Given the description of an element on the screen output the (x, y) to click on. 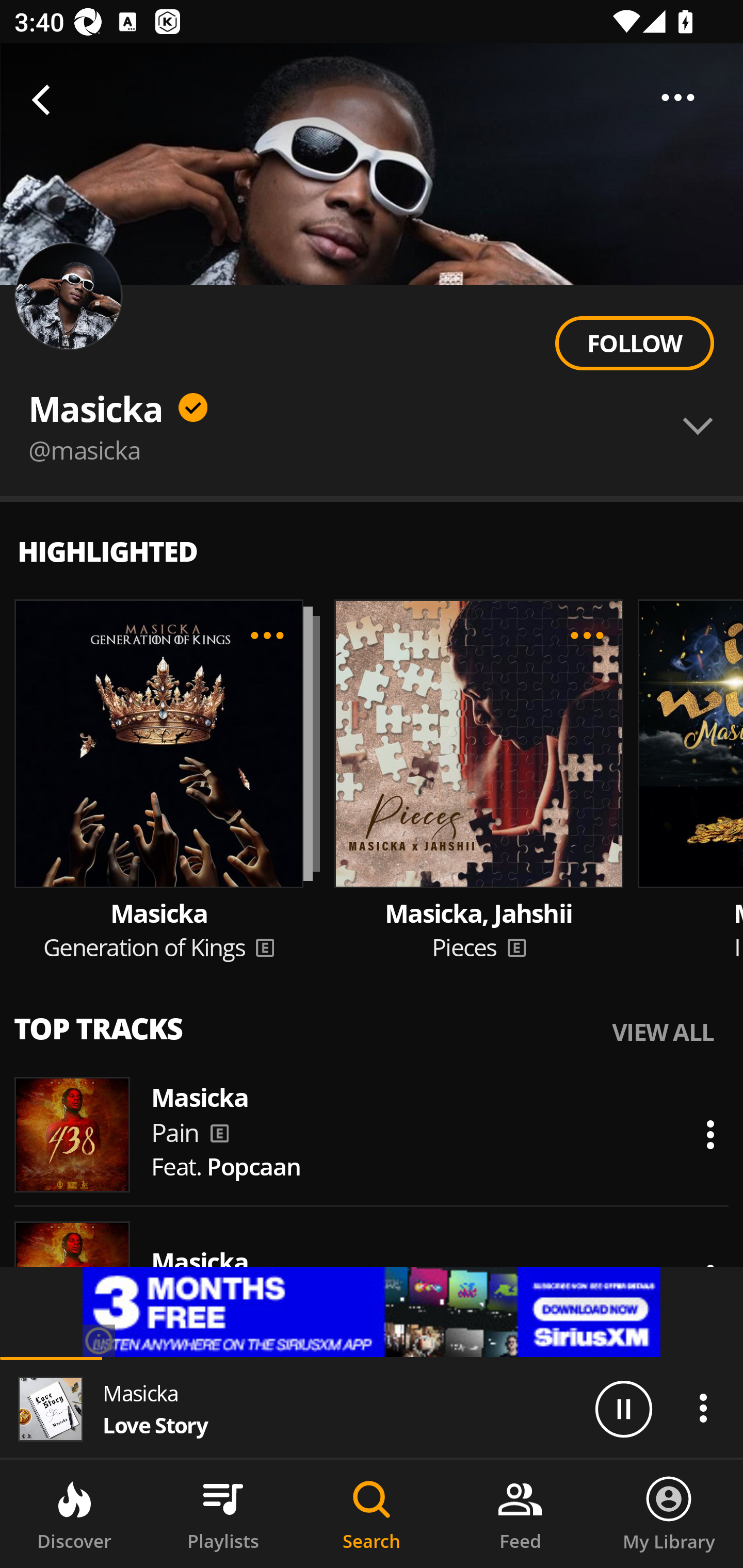
Close (46, 100)
Share (677, 97)
FOLLOW Follow (634, 343)
Song artwork Masicka Love Story Download Actions (371, 390)
Song artwork Indila Love Story Download Actions (371, 535)
EDIT HIGHLIGHTS (267, 634)
EDIT HIGHLIGHTS (587, 634)
VIEW ALL (663, 1030)
Song artwork Masicka Pain    Feat. Popcaan Actions (371, 1135)
Actions (710, 1134)
Song artwork Masicka Suicide Note    Actions (371, 1279)
Actions (703, 1407)
Play/Pause (623, 1408)
Discover (74, 1513)
Playlists (222, 1513)
Search (371, 1513)
Feed (519, 1513)
My Library (668, 1513)
